Given the description of an element on the screen output the (x, y) to click on. 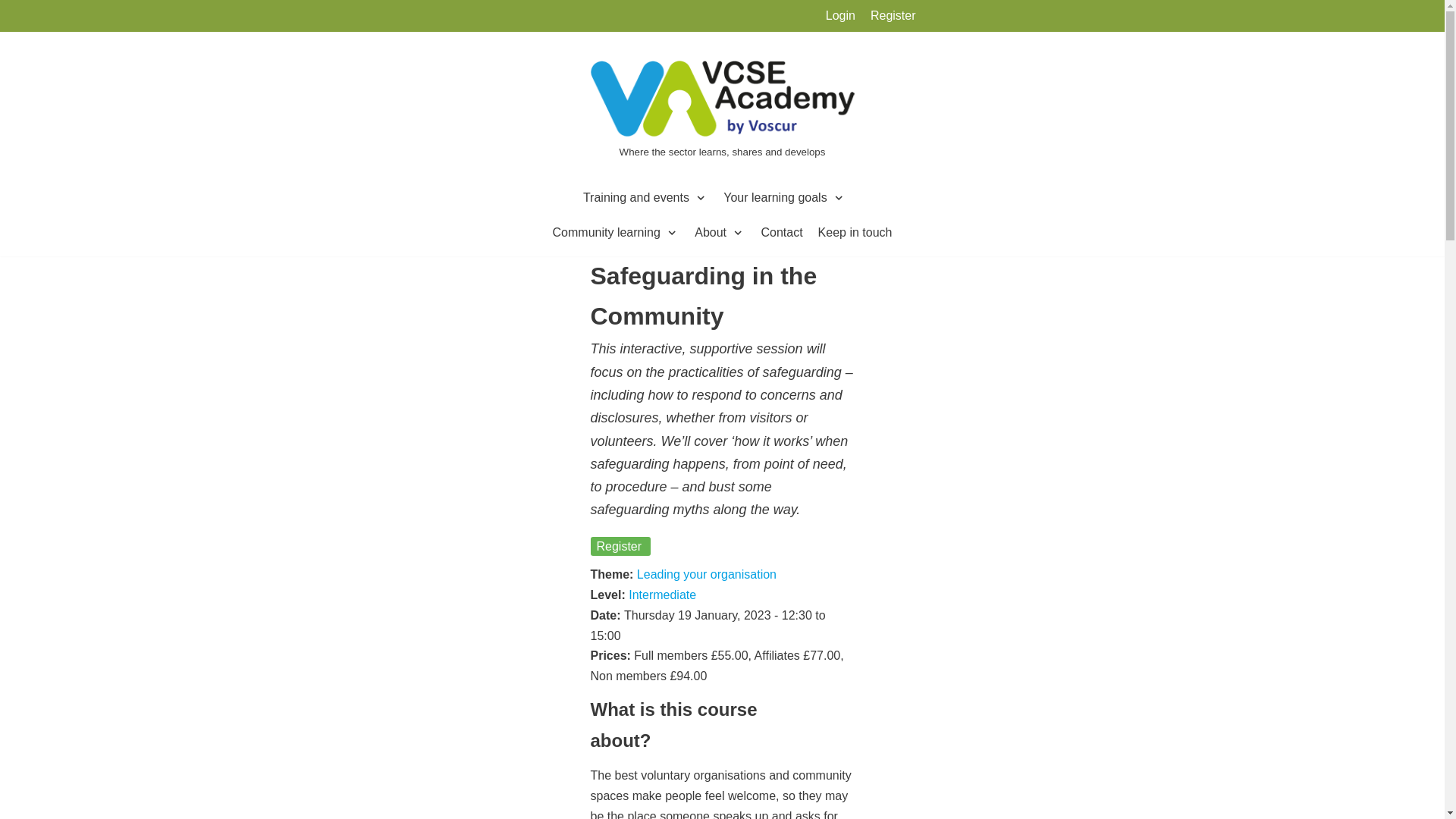
Training and events (645, 198)
Keep in touch (855, 232)
Where the sector learns, shares and develops (722, 110)
Community learning (616, 232)
Skip to content (15, 31)
Contact (781, 232)
About (719, 232)
Your learning goals (784, 198)
Register (892, 15)
Login (840, 15)
VCSE Academy (722, 110)
